Given the description of an element on the screen output the (x, y) to click on. 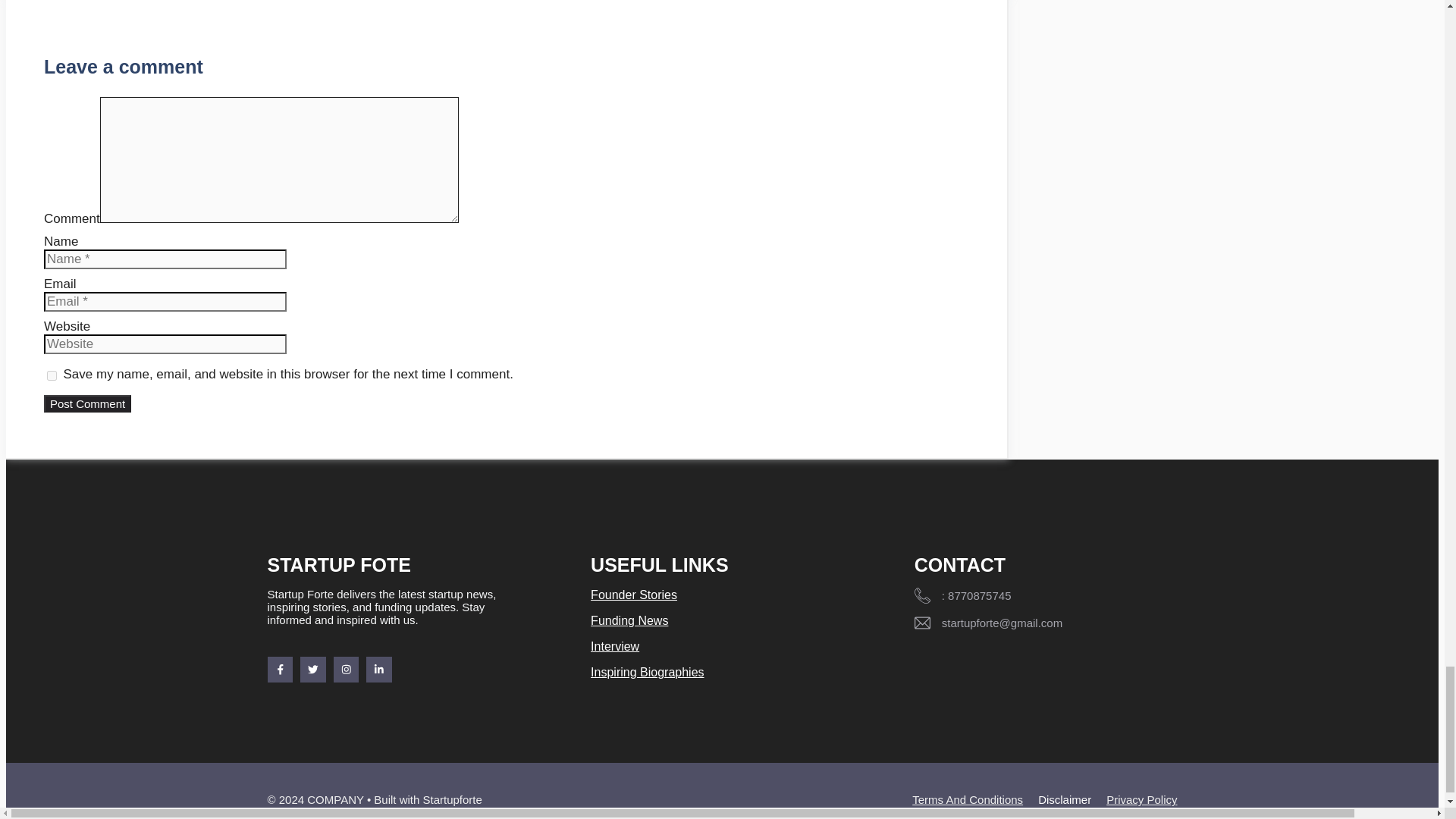
Founder Stories (634, 594)
yes (51, 375)
Funding News (629, 620)
Terms And Conditions (967, 799)
Inspiring Biographies (647, 671)
Privacy Policy (1141, 799)
Post Comment (87, 403)
Post Comment (87, 403)
Interview (615, 645)
